Given the description of an element on the screen output the (x, y) to click on. 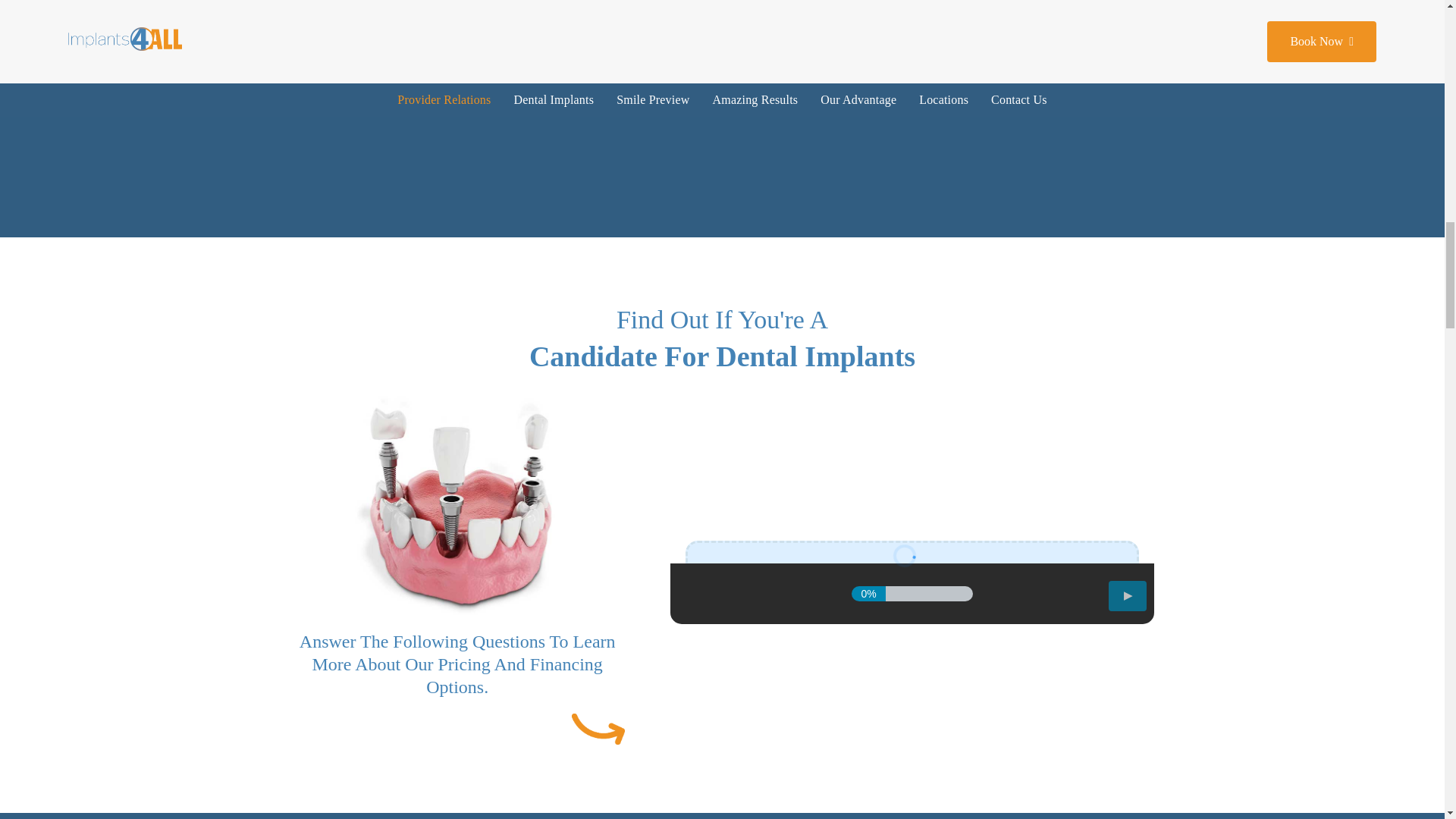
V3 Implant Eval - SEO (911, 567)
